Given the description of an element on the screen output the (x, y) to click on. 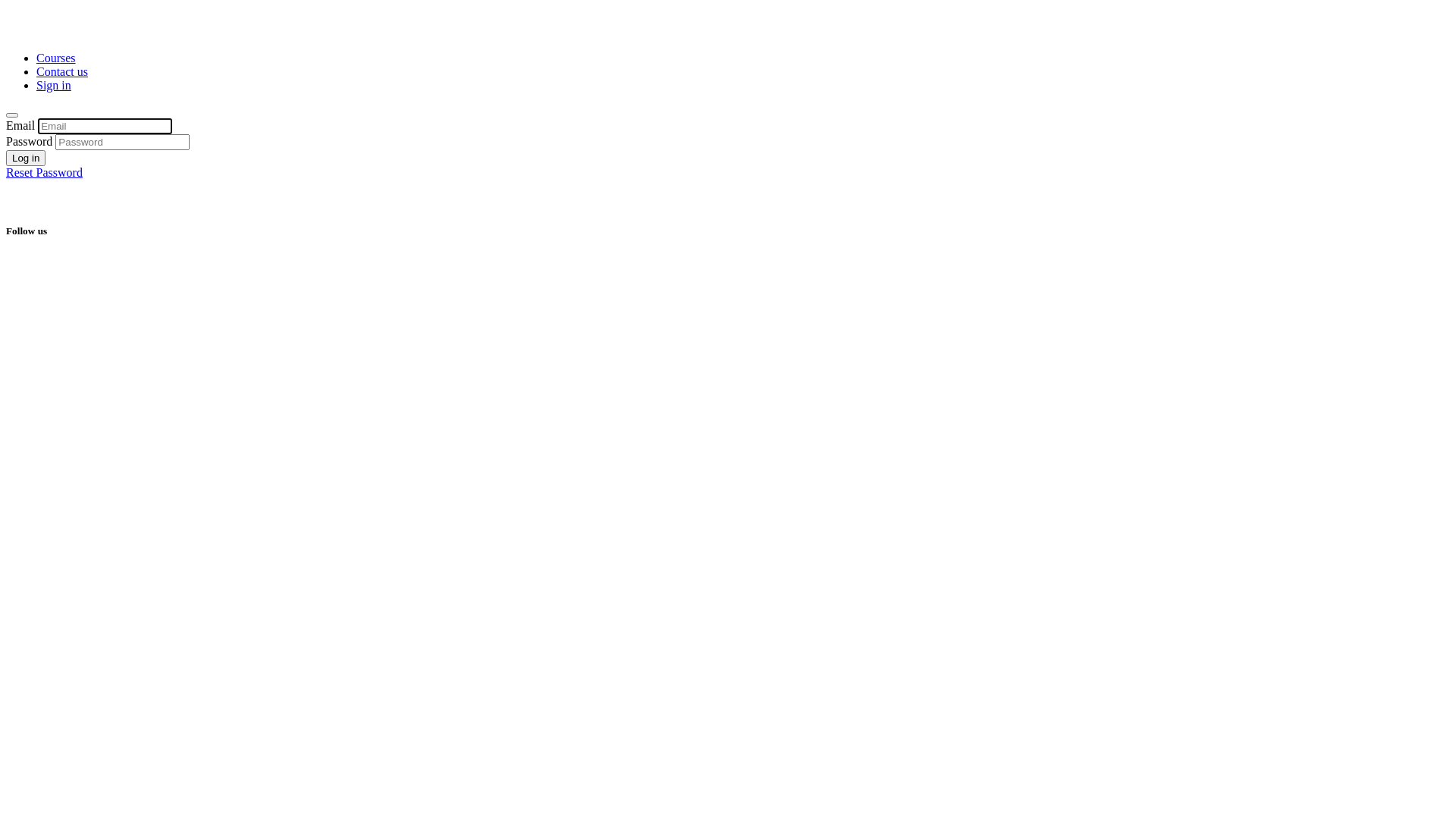
3canvas Element type: hover (42, 31)
Log in Element type: text (25, 158)
Contact us Element type: text (61, 71)
Courses Element type: text (55, 57)
Reset Password Element type: text (44, 172)
Sign in Element type: text (53, 84)
